Given the description of an element on the screen output the (x, y) to click on. 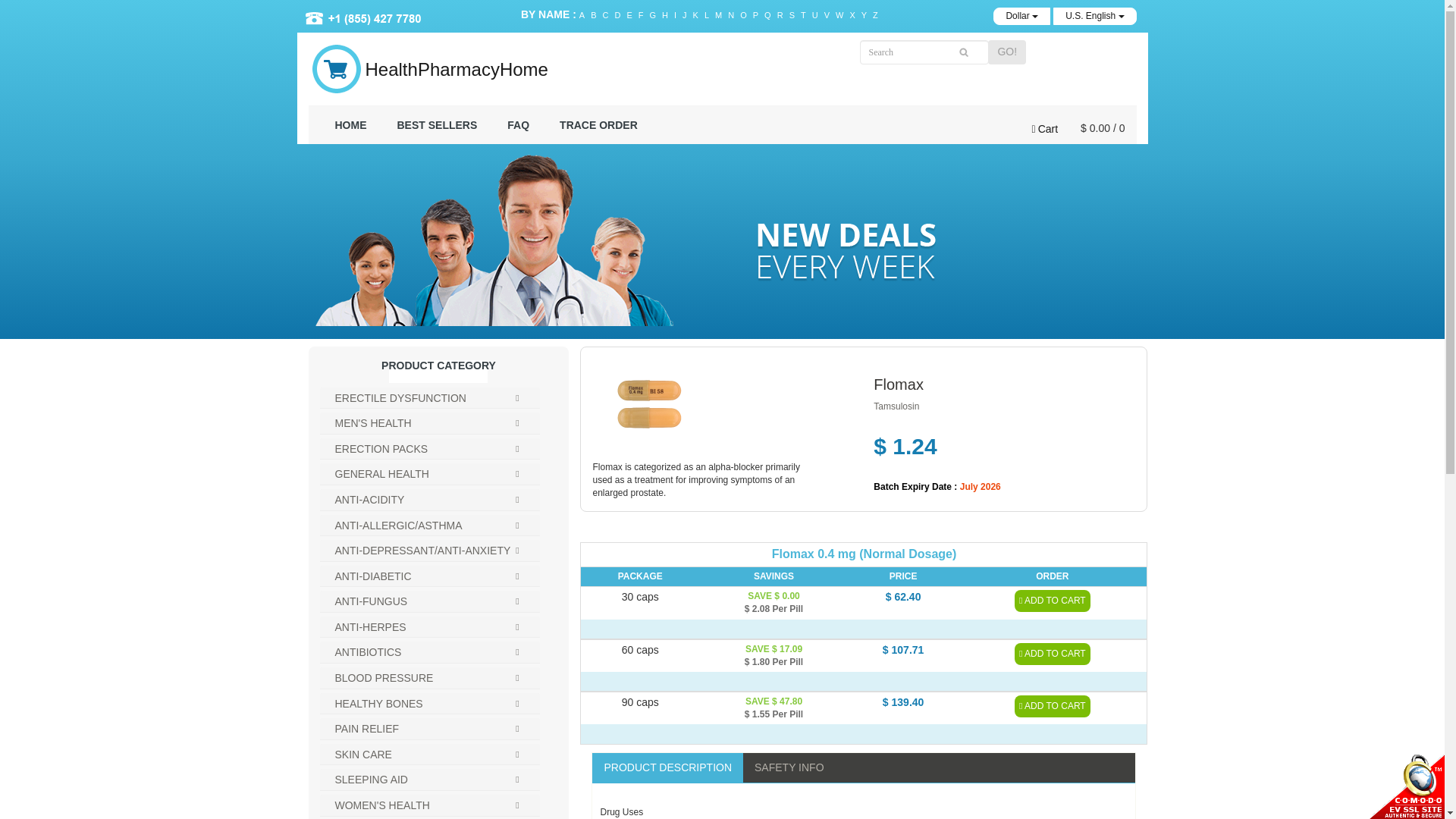
U.S. English (1093, 16)
GO! (1007, 52)
HealthPharmacyHome (456, 69)
Dollar (1020, 16)
